Given the description of an element on the screen output the (x, y) to click on. 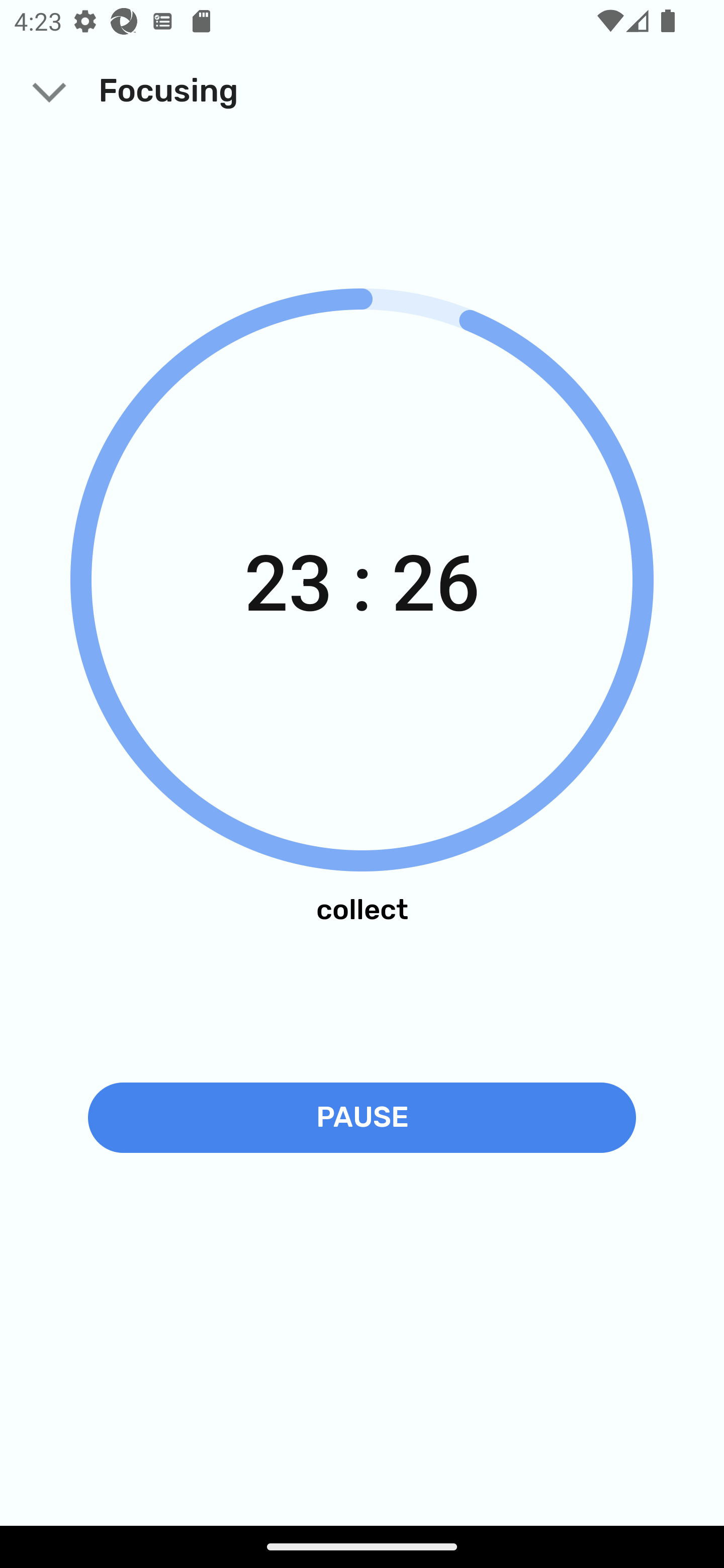
PAUSE (361, 1116)
